Given the description of an element on the screen output the (x, y) to click on. 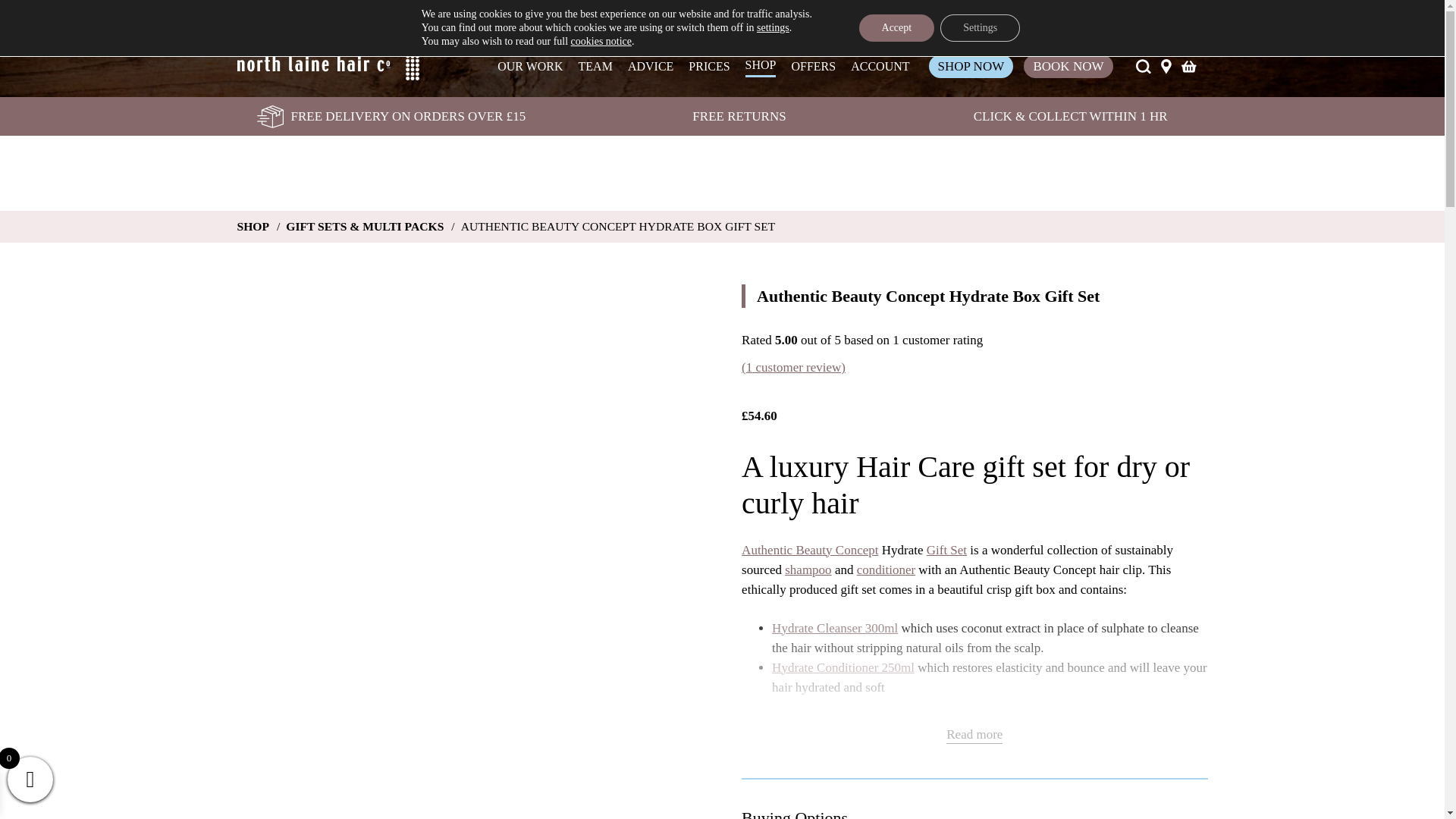
OUR WORK (529, 66)
ACCOUNT (879, 66)
ADVICE (649, 66)
PRICES (708, 66)
OFFERS (812, 66)
TEAM (595, 66)
SHOP (760, 65)
